Given the description of an element on the screen output the (x, y) to click on. 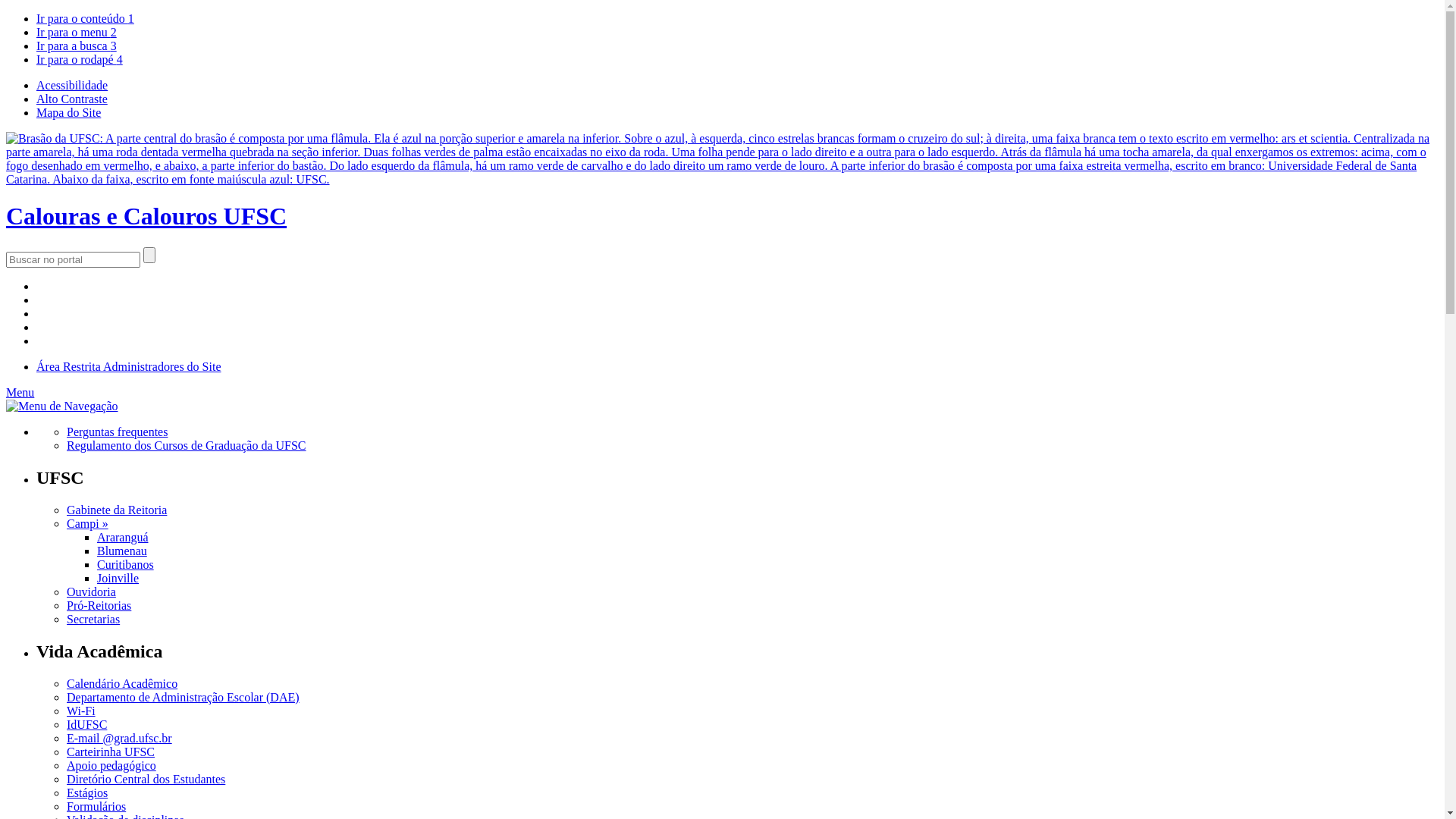
Perguntas frequentes Element type: text (116, 431)
Calouras e Calouros UFSC Element type: text (722, 201)
IdUFSC Element type: text (86, 723)
Menu Element type: text (20, 391)
Joinville Element type: text (117, 577)
E-mail @grad.ufsc.br Element type: text (119, 737)
Carteirinha UFSC Element type: text (110, 750)
Ir para o menu 2 Element type: text (76, 31)
Gabinete da Reitoria Element type: text (116, 509)
Wi-Fi Element type: text (80, 709)
Administradores do Site Element type: text (162, 366)
Ouvidoria Element type: text (91, 591)
Secretarias Element type: text (92, 618)
Acessibilidade Element type: text (71, 84)
Alto Contraste Element type: text (71, 98)
Blumenau Element type: text (122, 550)
Curitibanos Element type: text (125, 564)
Mapa do Site Element type: text (68, 112)
Ir para a busca 3 Element type: text (76, 45)
